Given the description of an element on the screen output the (x, y) to click on. 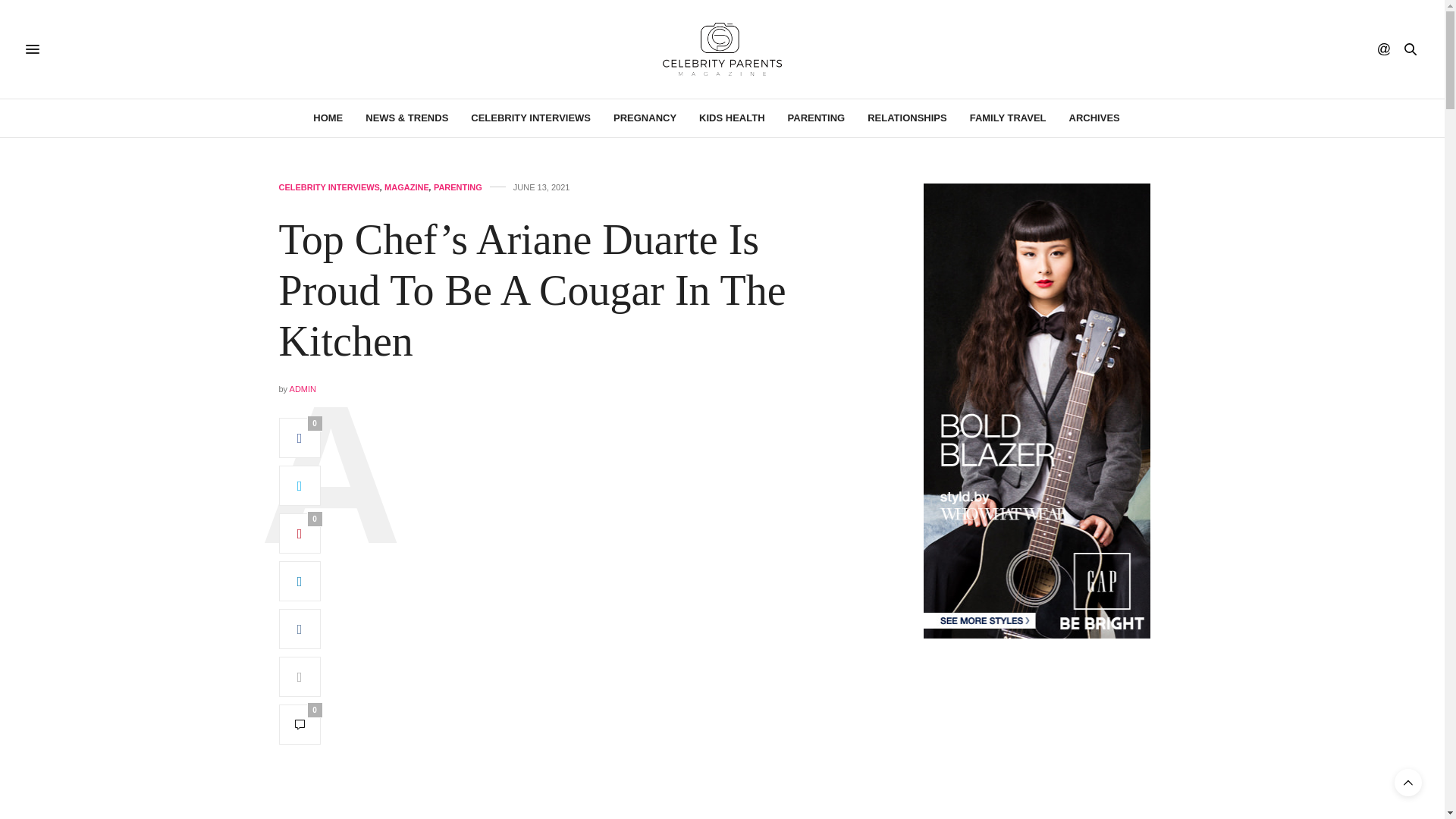
MAGAZINE (406, 187)
ARCHIVES (1093, 118)
CELEBRITY INTERVIEWS (329, 187)
ADMIN (302, 388)
Posts by admin (302, 388)
RELATIONSHIPS (907, 118)
CELEBRITY INTERVIEWS (530, 118)
PARENTING (457, 187)
Celebrity Parents Magazine (721, 49)
HOME (327, 118)
0 (299, 533)
0 (299, 724)
PARENTING (816, 118)
Scroll To Top (1408, 782)
PREGNANCY (644, 118)
